Given the description of an element on the screen output the (x, y) to click on. 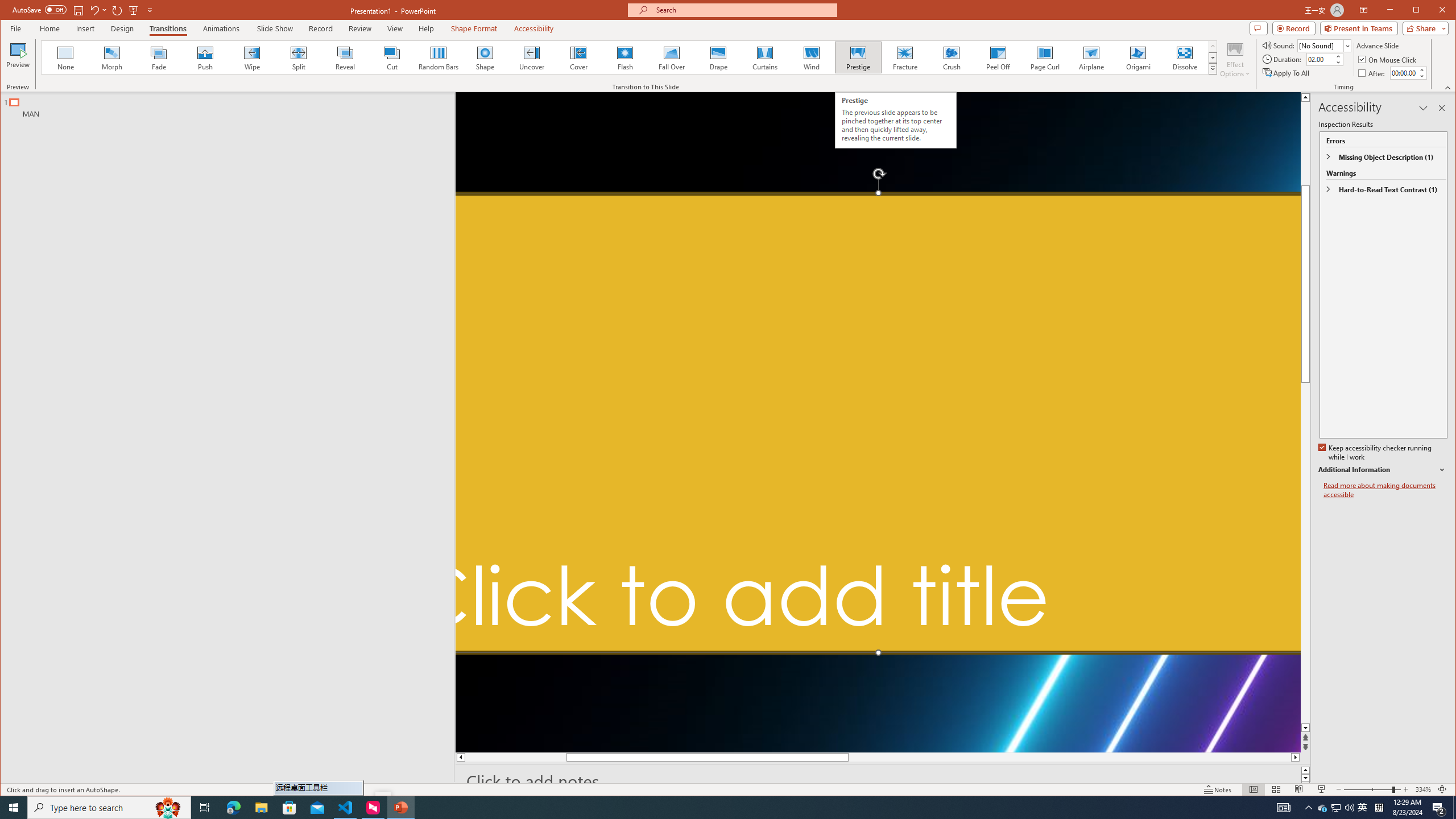
Flash (624, 57)
Sound (1324, 45)
Dissolve (1184, 57)
